Given the description of an element on the screen output the (x, y) to click on. 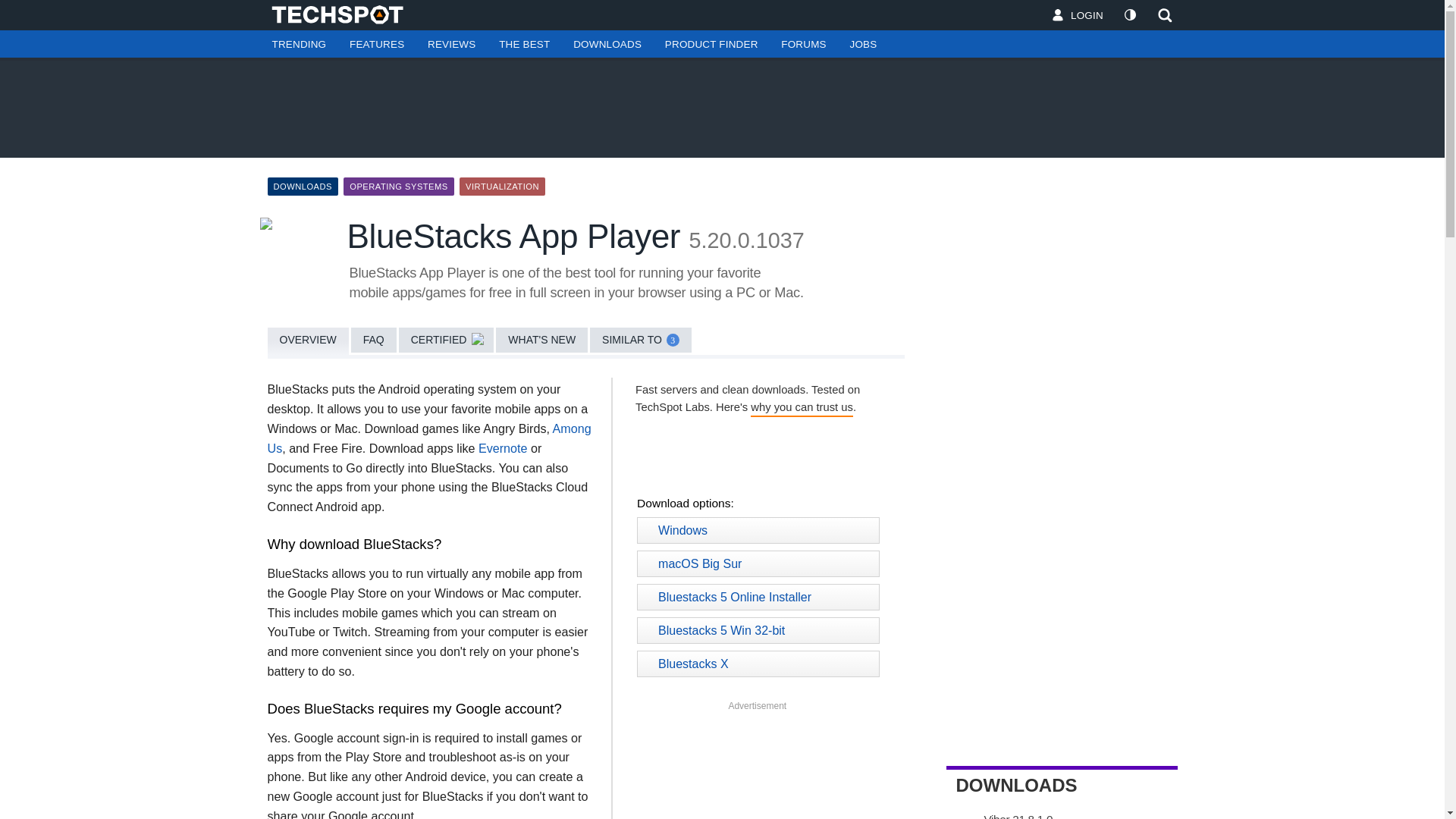
LOGIN (1077, 15)
SearchA search icon (1160, 15)
THE BEST (524, 44)
REVIEWS (450, 44)
FEATURES (376, 44)
PRODUCT FINDER (711, 44)
TRENDING (298, 44)
BlueStacks App Player Download (724, 456)
FORUMS (803, 44)
SearchA search icon (1164, 15)
TechSpot logoThe word TechSpot (344, 14)
DOWNLOADS (606, 44)
TechSpot logoThe word TechSpot (344, 14)
